Given the description of an element on the screen output the (x, y) to click on. 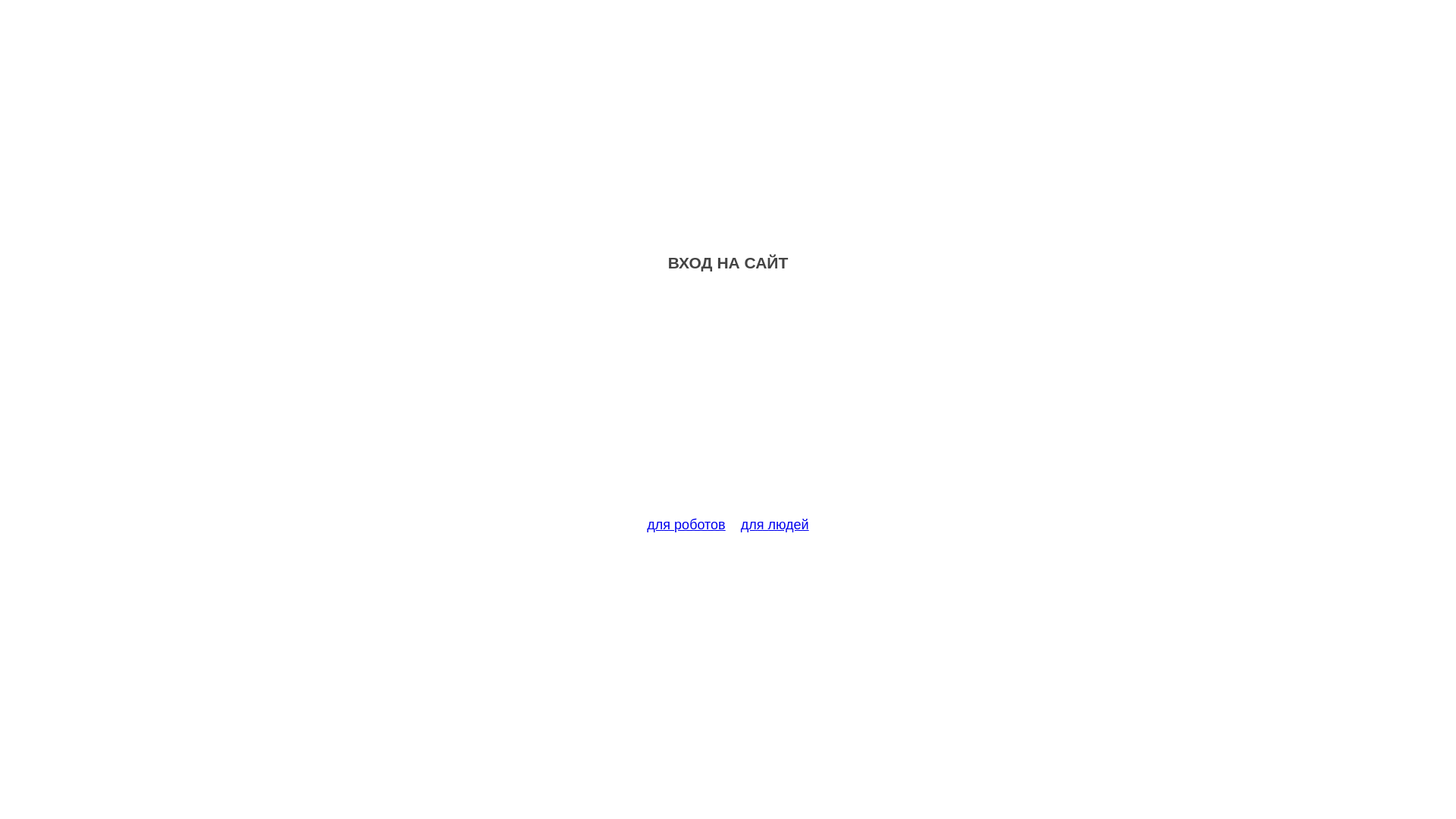
Advertisement Element type: hover (727, 403)
